Given the description of an element on the screen output the (x, y) to click on. 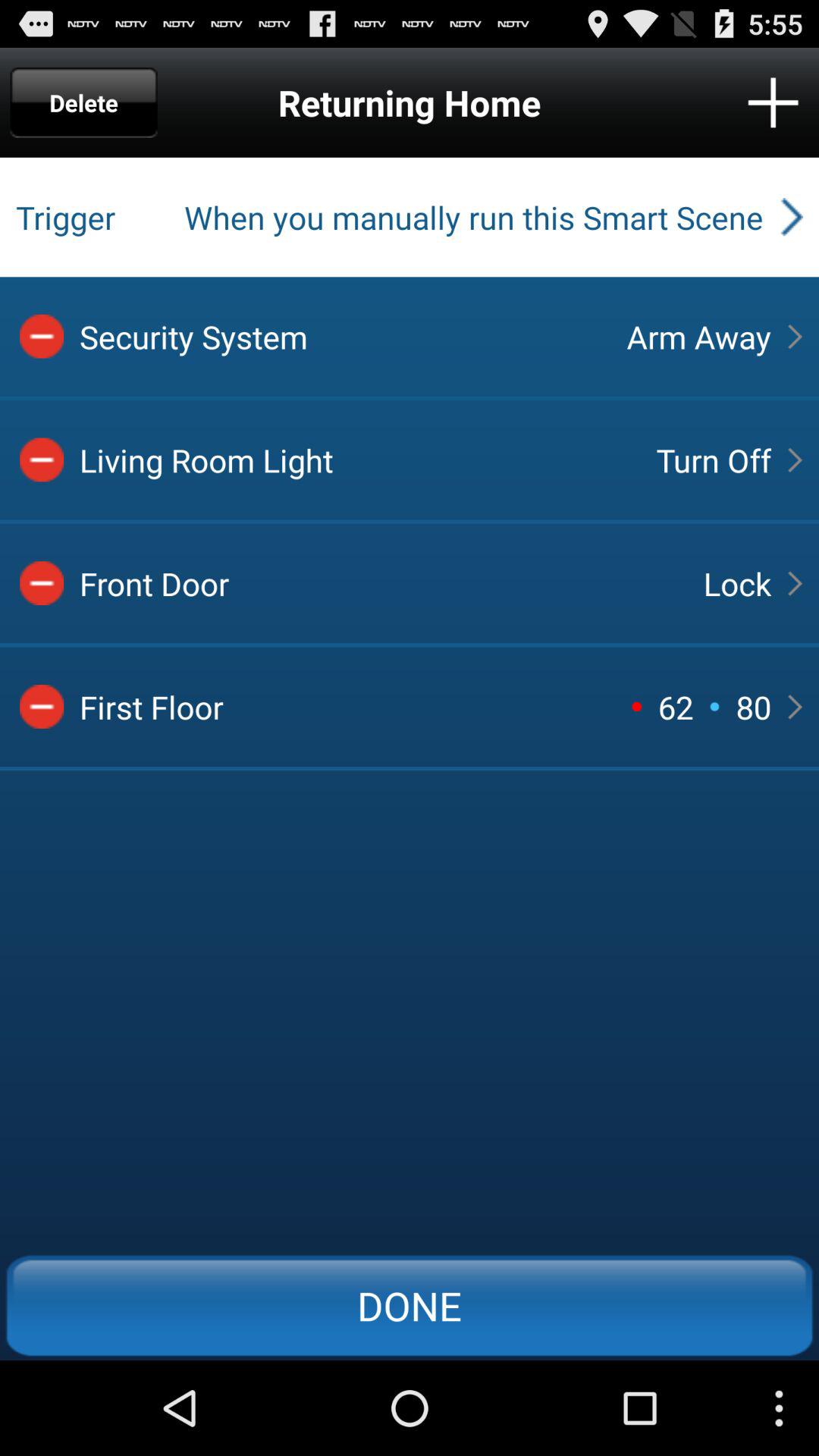
add icon (773, 102)
